Given the description of an element on the screen output the (x, y) to click on. 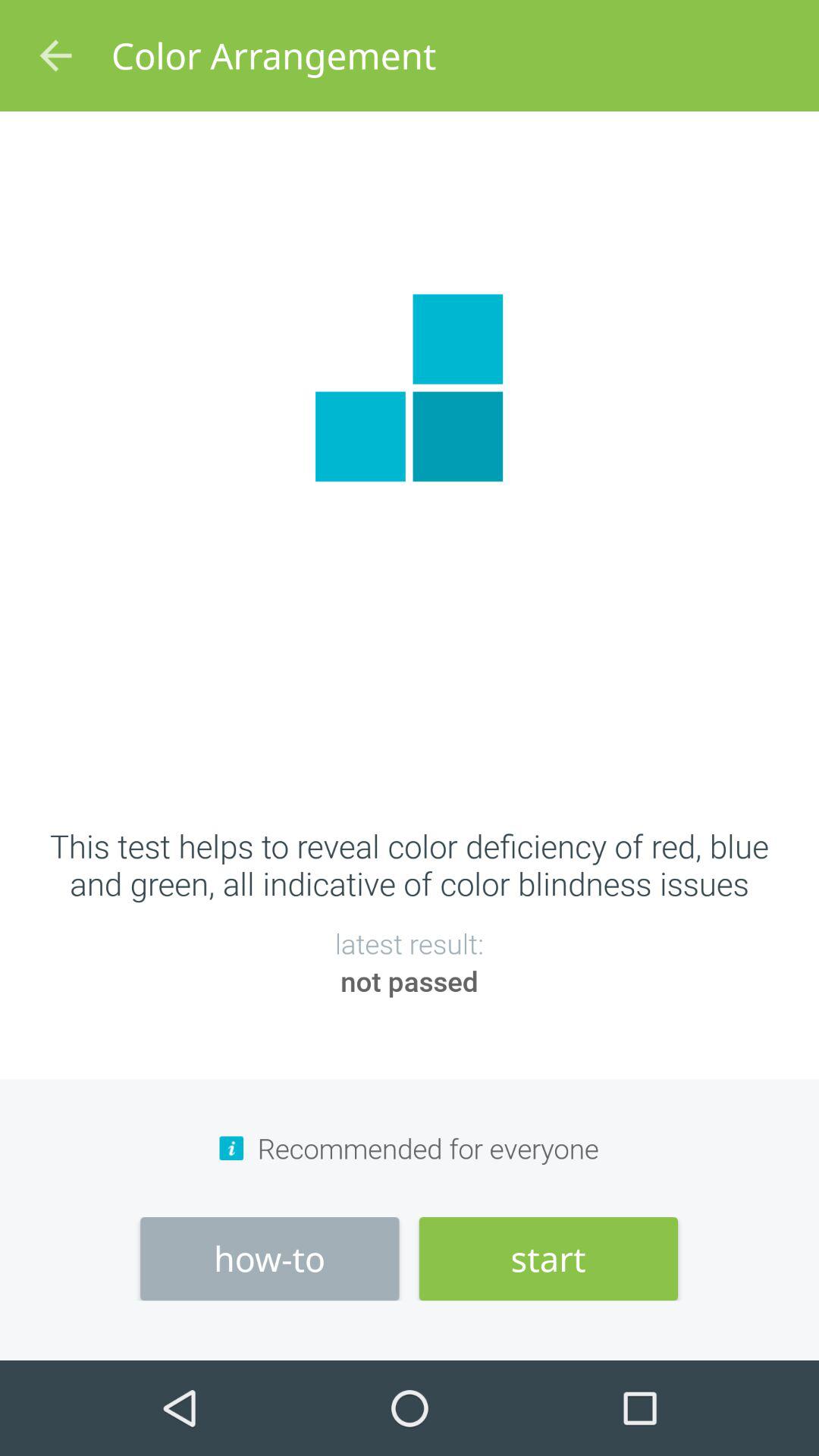
launch icon to the left of the color arrangement icon (55, 55)
